Given the description of an element on the screen output the (x, y) to click on. 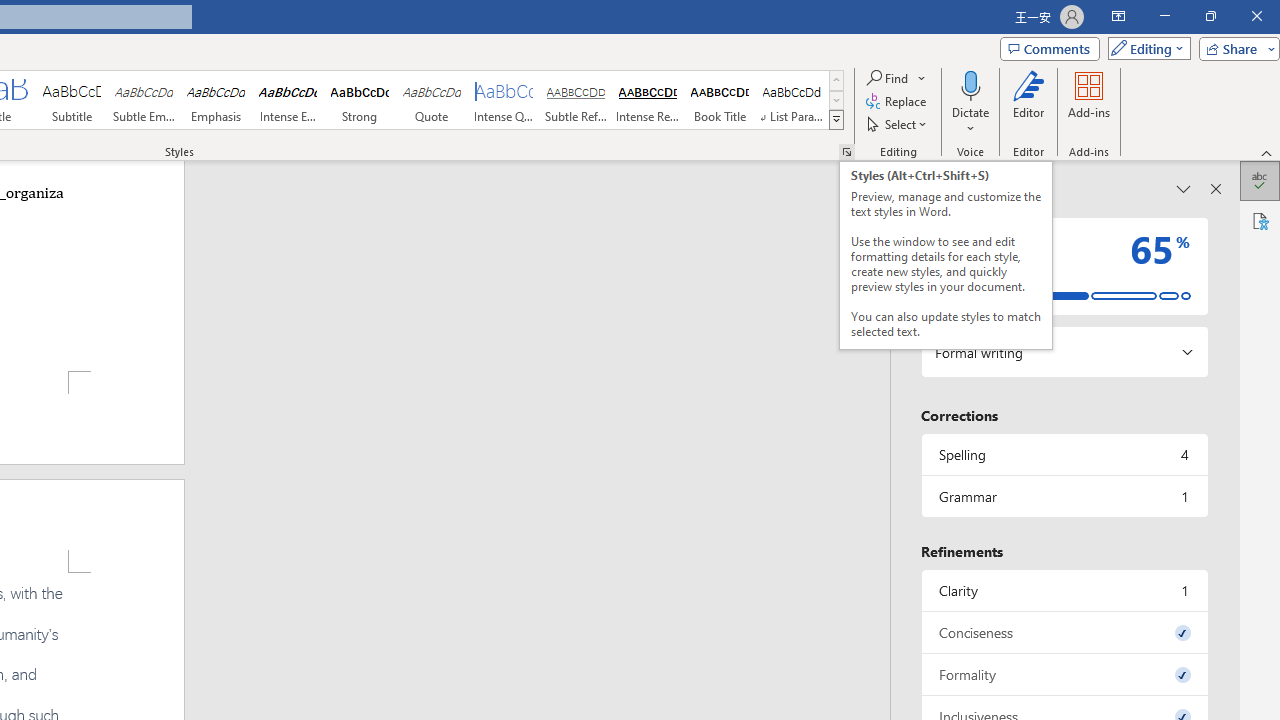
Formality, 0 issues. Press space or enter to review items. (1064, 673)
Subtle Reference (575, 100)
Dictate (970, 102)
More Options (970, 121)
Styles... (846, 151)
Book Title (719, 100)
Task Pane Options (1183, 188)
Ribbon Display Options (1118, 16)
Styles (836, 120)
Editor (1028, 102)
Editing (1144, 47)
Row up (836, 79)
Dictate (970, 84)
